Given the description of an element on the screen output the (x, y) to click on. 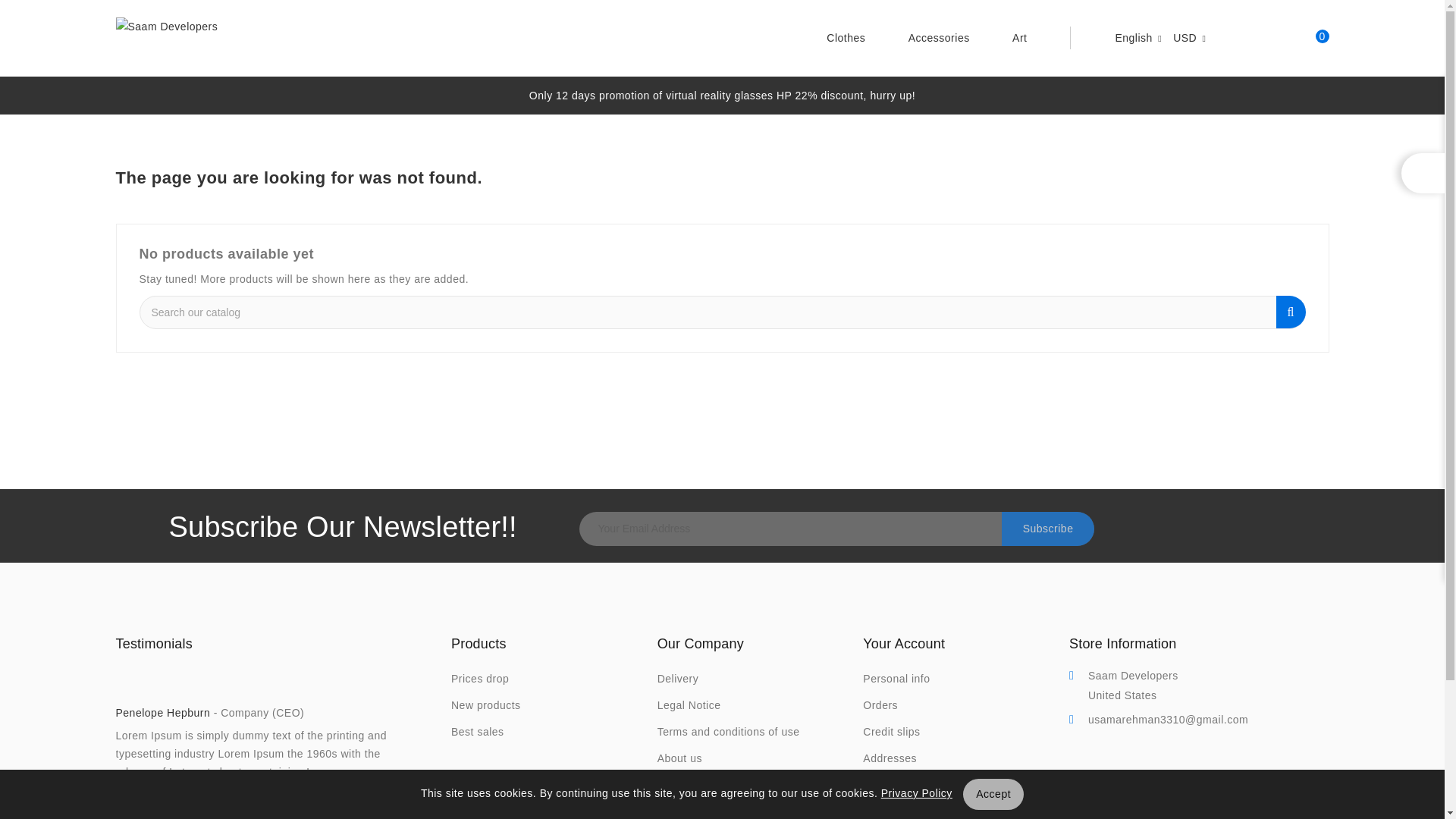
Orders (880, 705)
Subscribe (1047, 528)
Accessories (939, 38)
Credit slips (891, 732)
Our secure payment method (698, 785)
Addresses (890, 758)
Addresses (890, 758)
Prices drop (479, 678)
Our terms and conditions of use (728, 732)
Delivery (678, 678)
